Given the description of an element on the screen output the (x, y) to click on. 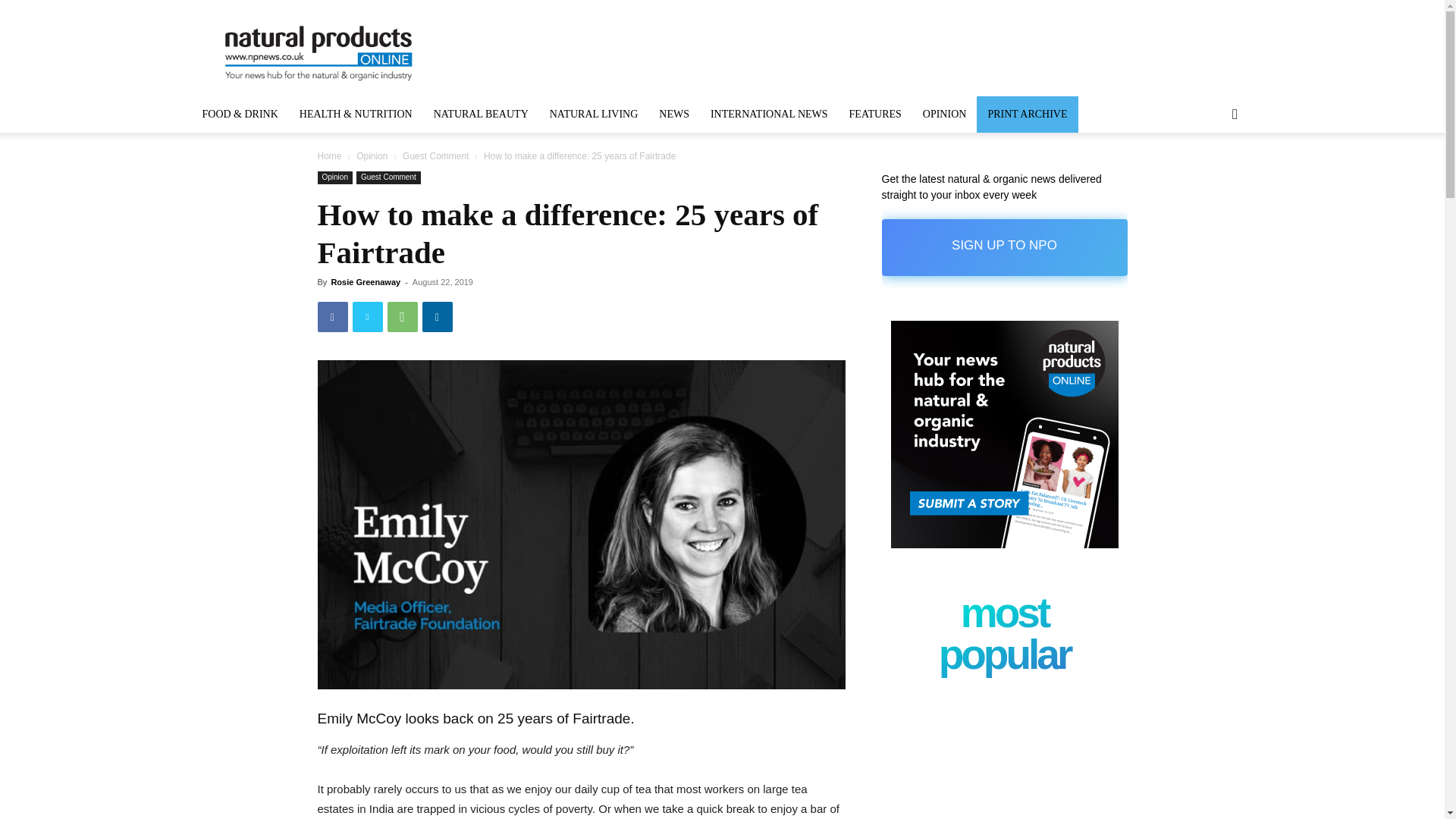
Home (328, 155)
Guest Comment (435, 155)
Twitter (366, 317)
View all posts in Guest Comment (435, 155)
Facebook (332, 317)
Guest Comment (388, 177)
NEWS (673, 114)
NATURAL BEAUTY (480, 114)
FEATURES (875, 114)
NATURAL LIVING (593, 114)
Linkedin (436, 317)
OPINION (944, 114)
PRINT ARCHIVE (1026, 114)
Search (1210, 174)
